Given the description of an element on the screen output the (x, y) to click on. 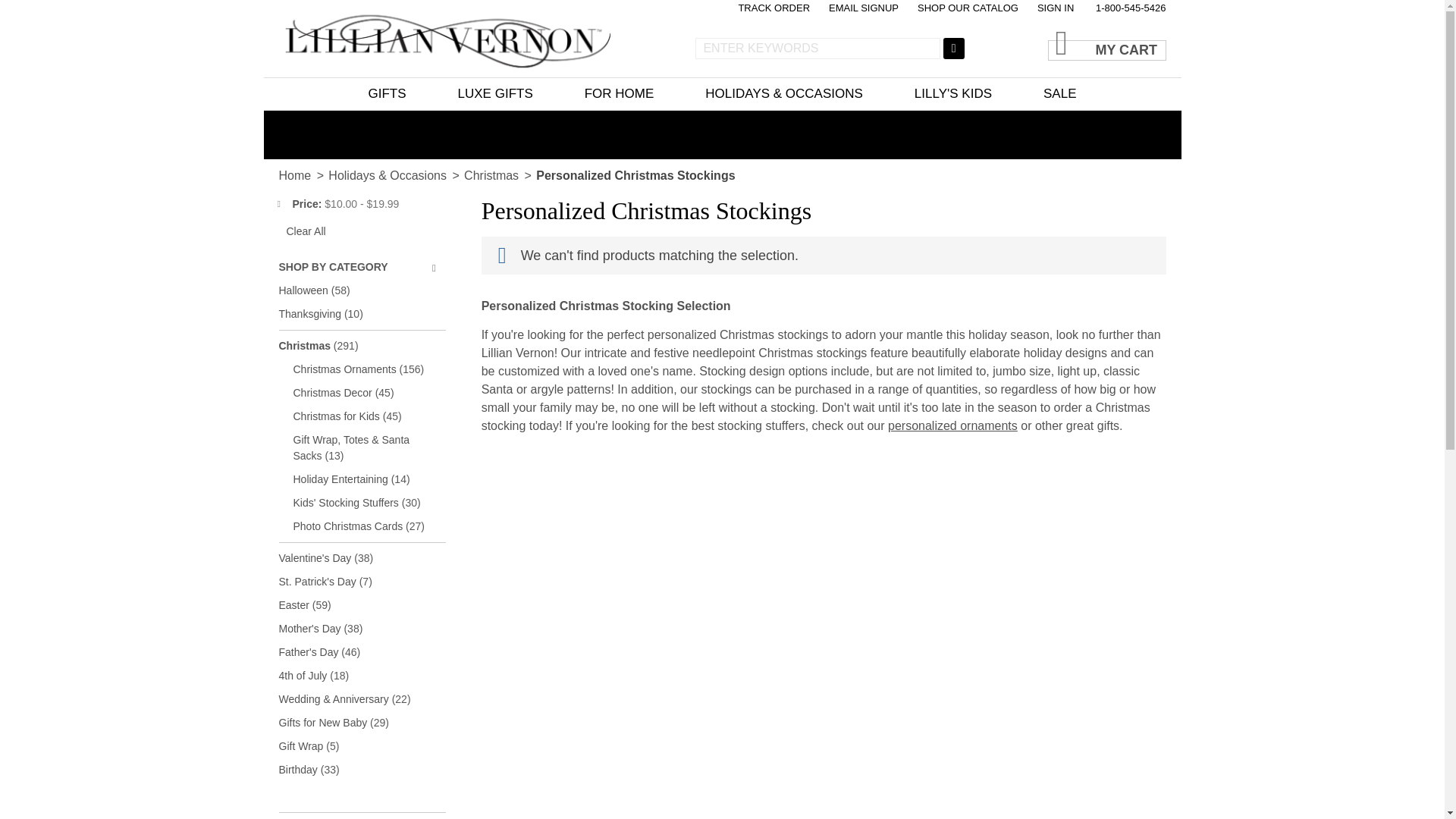
MY CART (1107, 43)
SEARCH (953, 47)
My Cart (1057, 33)
SHOP OUR CATALOG (967, 8)
SIGN IN (1055, 8)
1-800-545-5426 (1131, 8)
EMAIL SIGNUP (863, 8)
Lillian Vernon (444, 38)
TRACK ORDER (773, 8)
GIFTS (386, 93)
